Given the description of an element on the screen output the (x, y) to click on. 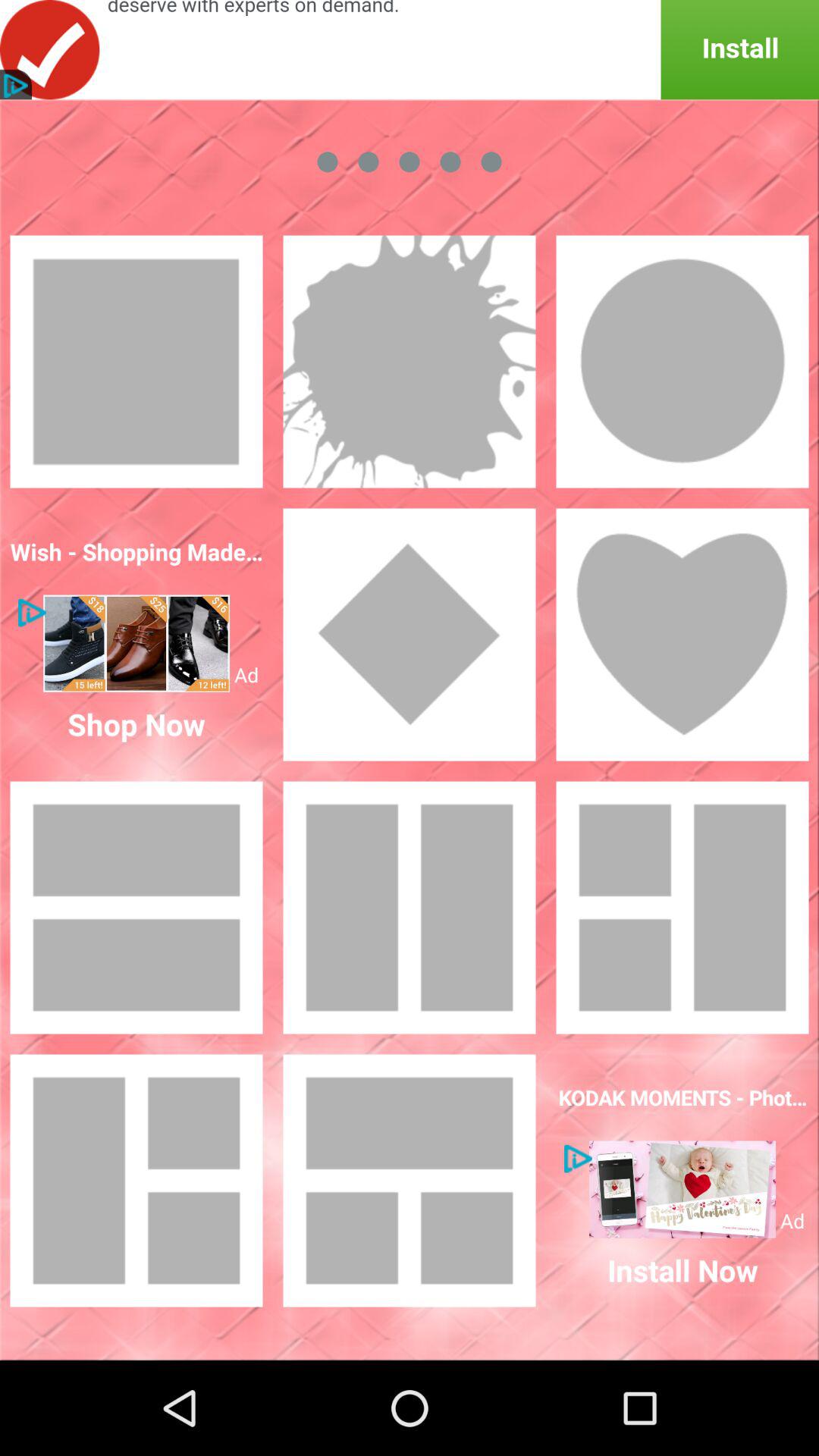
show the advertisement (682, 1189)
